Given the description of an element on the screen output the (x, y) to click on. 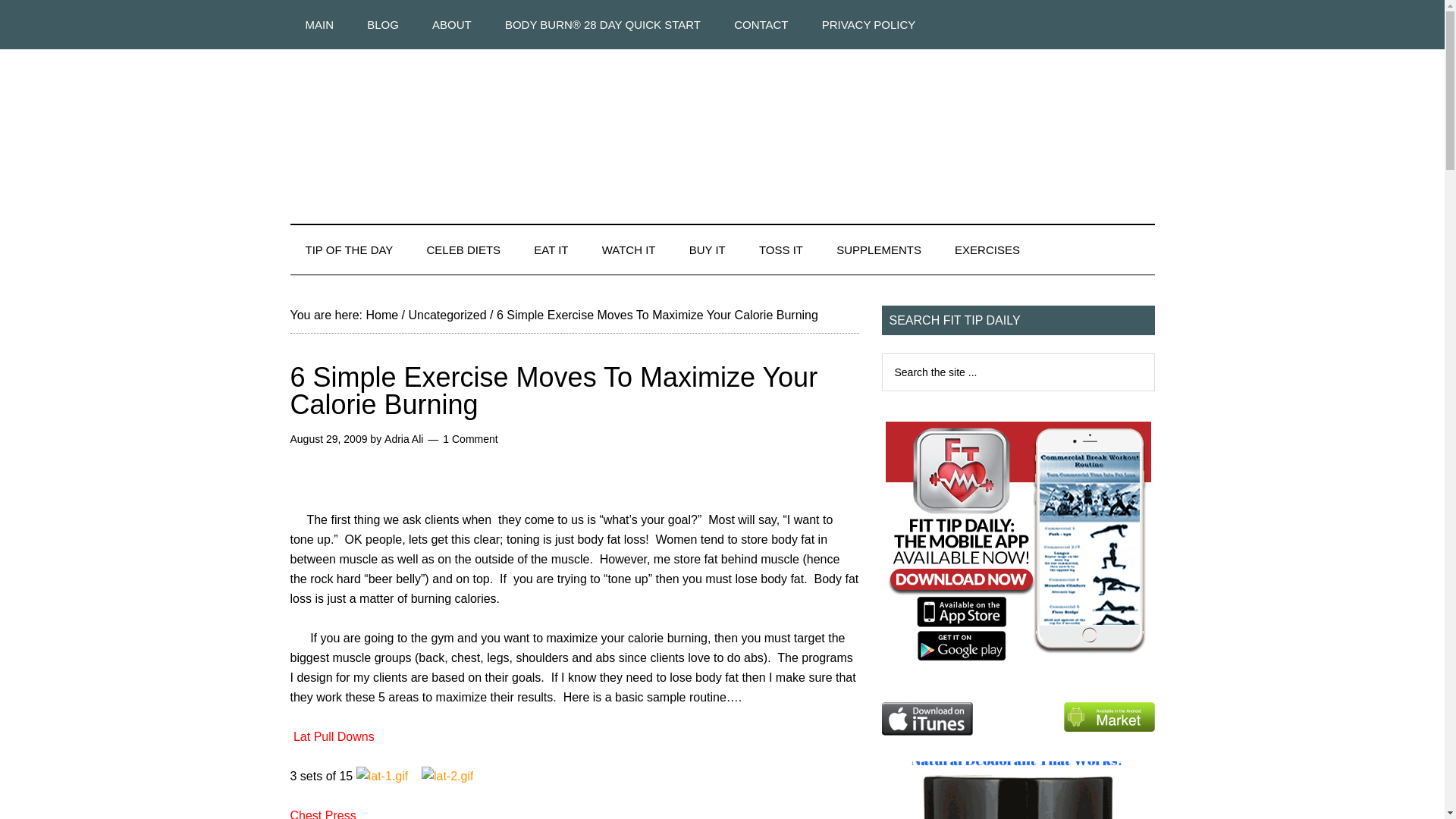
CELEB DIETS (464, 249)
EAT IT (550, 249)
Adria Ali (403, 439)
lat-1.gif (381, 775)
WATCH IT (628, 249)
TOSS IT (781, 249)
BLOG (382, 24)
CONTACT (761, 24)
BUY IT (707, 249)
Fit Tip Daily (721, 123)
Home (381, 314)
CONTACT (761, 24)
BLOG (382, 24)
1 Comment (469, 439)
